Given the description of an element on the screen output the (x, y) to click on. 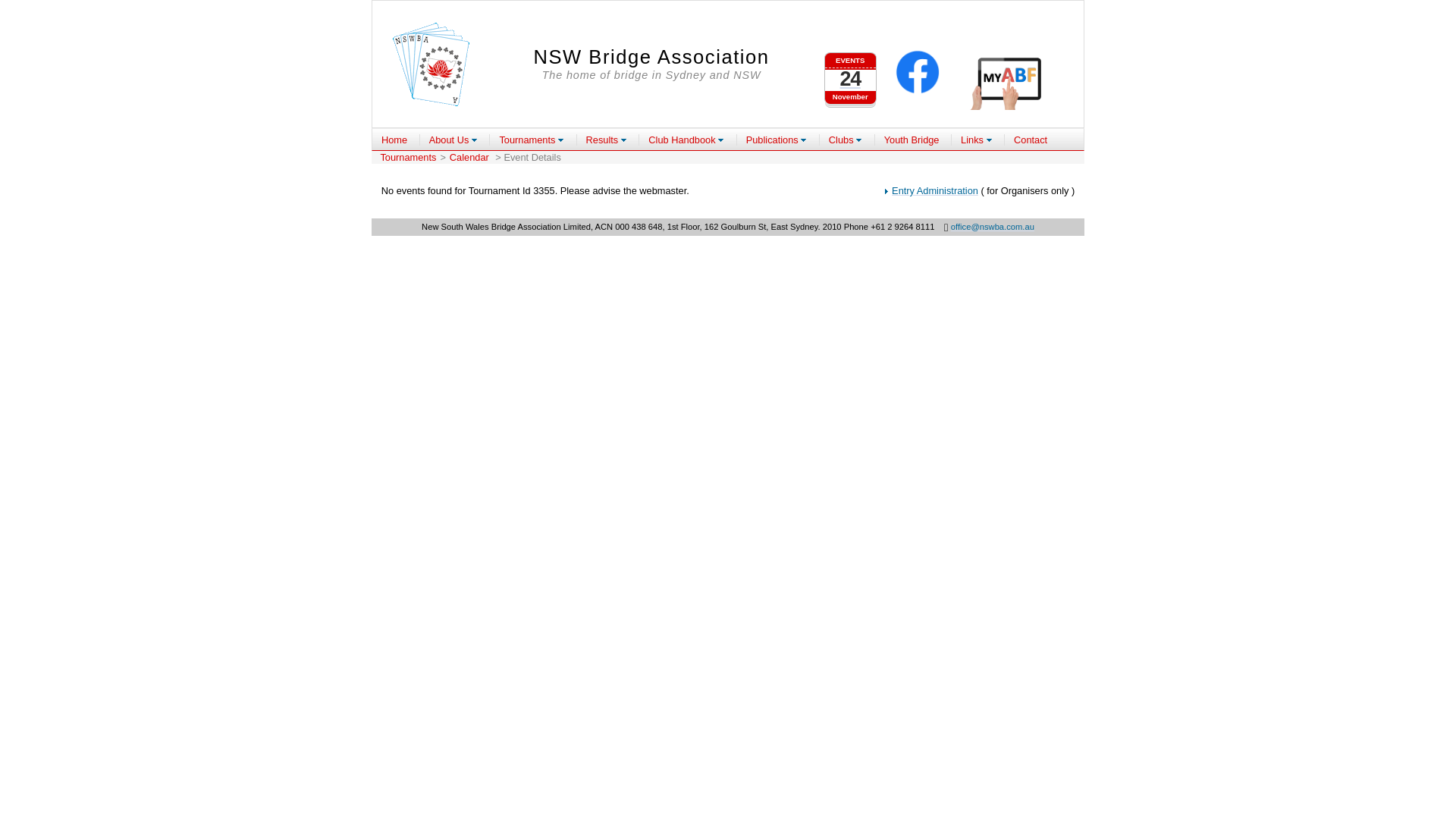
Links Element type: text (976, 139)
The home of Bridge in Sydney and NSW Element type: hover (430, 64)
About Us Element type: text (453, 139)
Youth Bridge Element type: text (911, 139)
Results Element type: text (606, 139)
EVENTS
24
November Element type: text (850, 72)
Contact Element type: text (1030, 139)
Publications Element type: text (776, 139)
Log into My ABF Element type: hover (1009, 80)
Entry Administration Element type: text (934, 190)
Clubs Element type: text (845, 139)
Find us on Facebook Element type: hover (917, 73)
Home Element type: text (394, 139)
Calendar Element type: text (470, 157)
Tournaments Element type: text (531, 139)
Club Handbook Element type: text (686, 139)
Tournaments Element type: text (407, 157)
office@nswba.com.au Element type: text (992, 226)
